Given the description of an element on the screen output the (x, y) to click on. 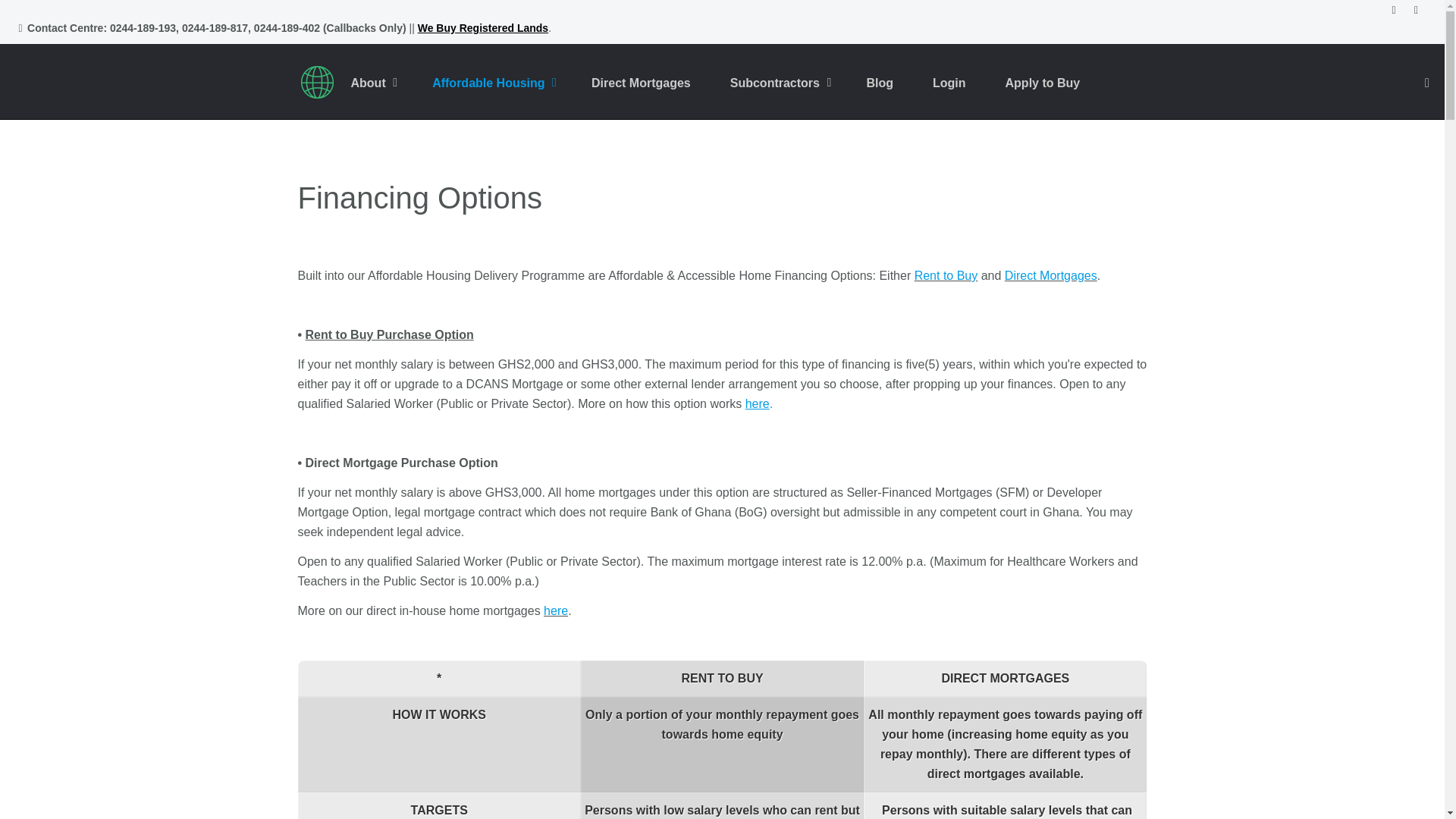
DCANS Developments (315, 83)
About (391, 83)
We Buy Registered Lands (482, 28)
